Given the description of an element on the screen output the (x, y) to click on. 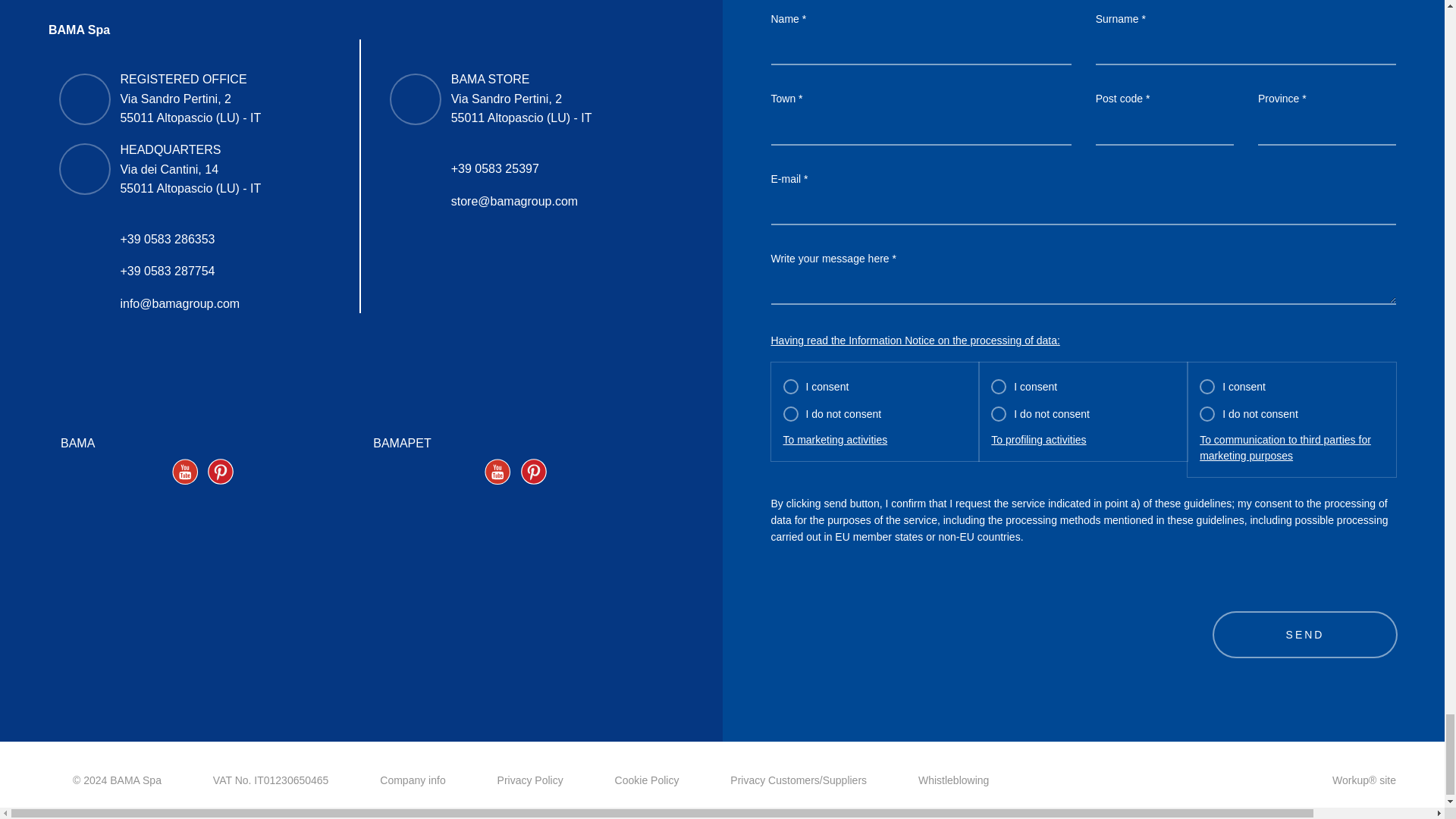
To marketing activities (834, 439)
Having read the Information Notice on the processing of data (914, 340)
To profiling activities (1038, 439)
Whistleblowing (953, 779)
To communication to third parties for marketing purposes (1291, 448)
